Given the description of an element on the screen output the (x, y) to click on. 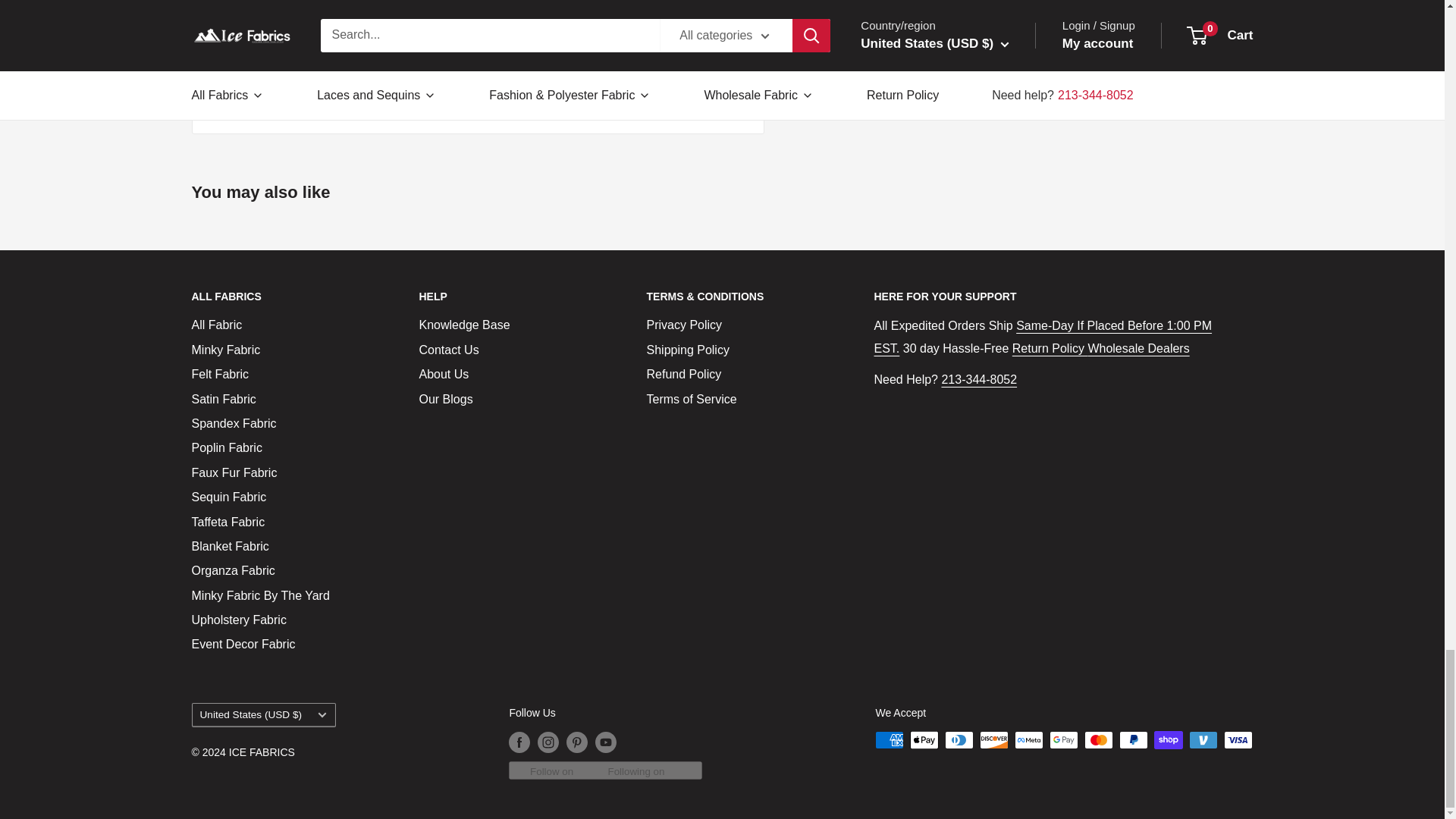
SHIPPING POLICY (1042, 336)
Returns policy (1049, 348)
tel:2133448052 (978, 379)
Instagram - IceFabrics (403, 36)
Facebook - IceFabrics (403, 67)
